Given the description of an element on the screen output the (x, y) to click on. 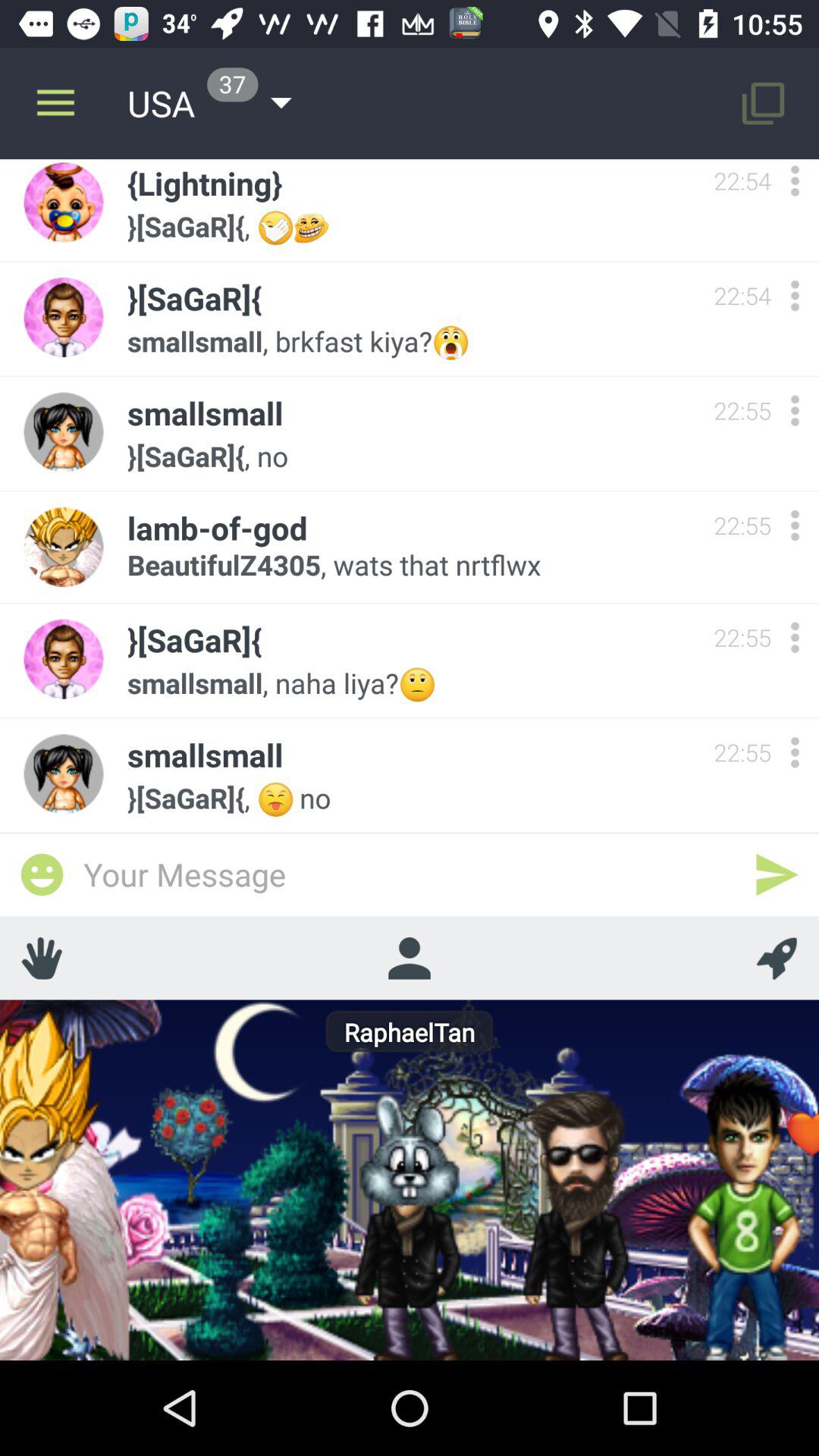
speed (777, 957)
